Given the description of an element on the screen output the (x, y) to click on. 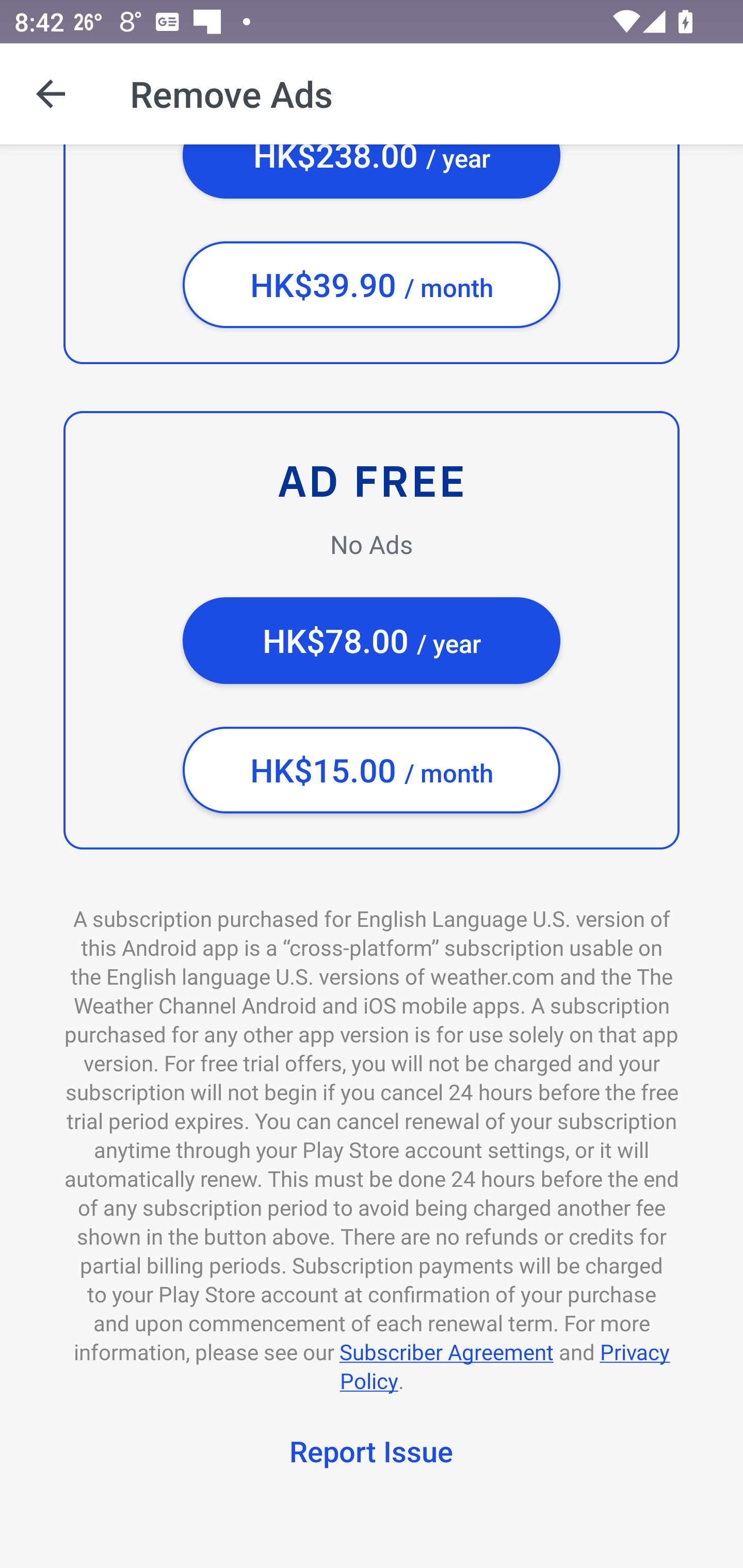
Navigate up (50, 93)
HK$238.00 / year (371, 171)
HK$39.90 / month (371, 284)
HK$78.00 / year (371, 640)
HK$15.00 / month (371, 769)
Report Issue (371, 1454)
